Given the description of an element on the screen output the (x, y) to click on. 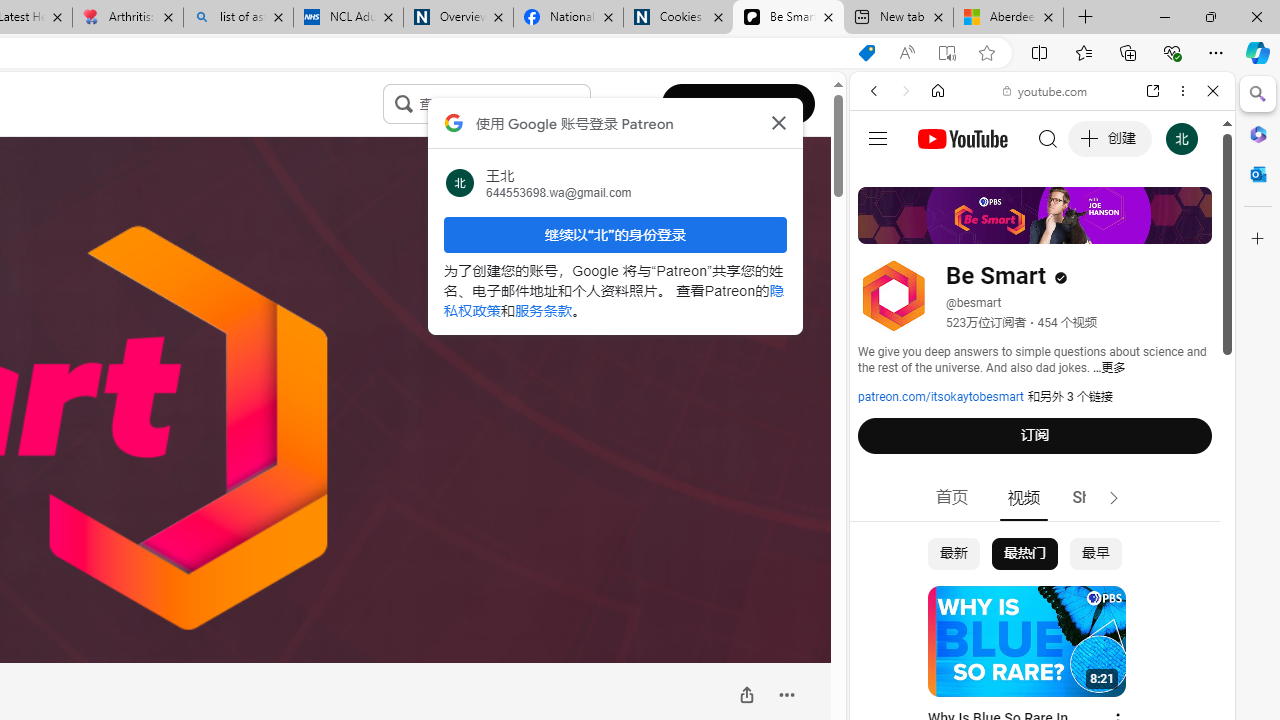
Close Outlook pane (1258, 174)
More options (1182, 91)
Class: sc-gUQvok bqiJlM (585, 103)
Show More Music (1164, 546)
Home (938, 91)
Open link in new tab (1153, 91)
patreon.com/itsokaytobesmart (941, 397)
Be Smart | creating Science videos | Patreon (788, 17)
